Given the description of an element on the screen output the (x, y) to click on. 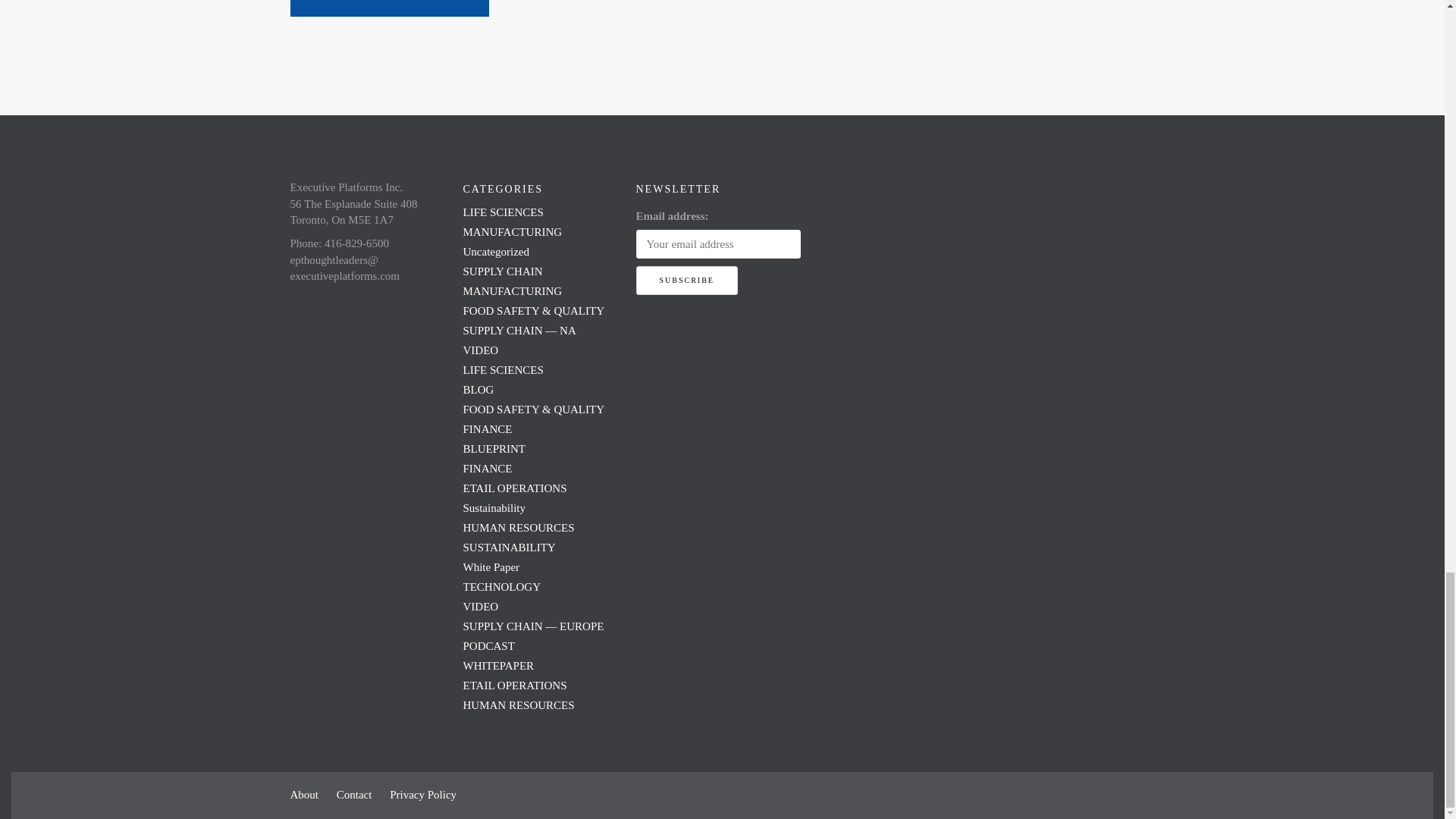
Subscribe (685, 280)
